Given the description of an element on the screen output the (x, y) to click on. 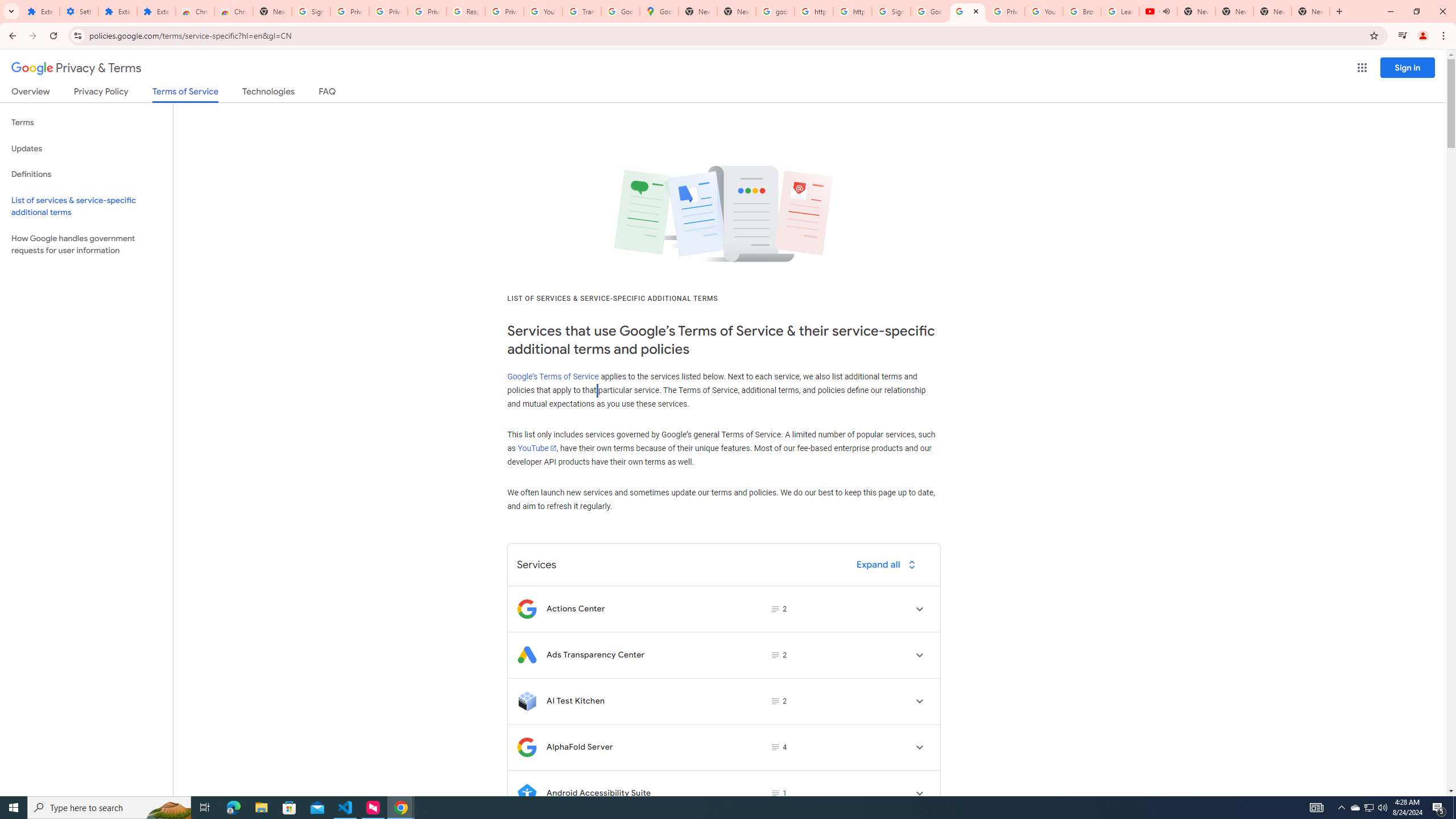
Extensions (40, 11)
Extensions (156, 11)
Extensions (117, 11)
